Given the description of an element on the screen output the (x, y) to click on. 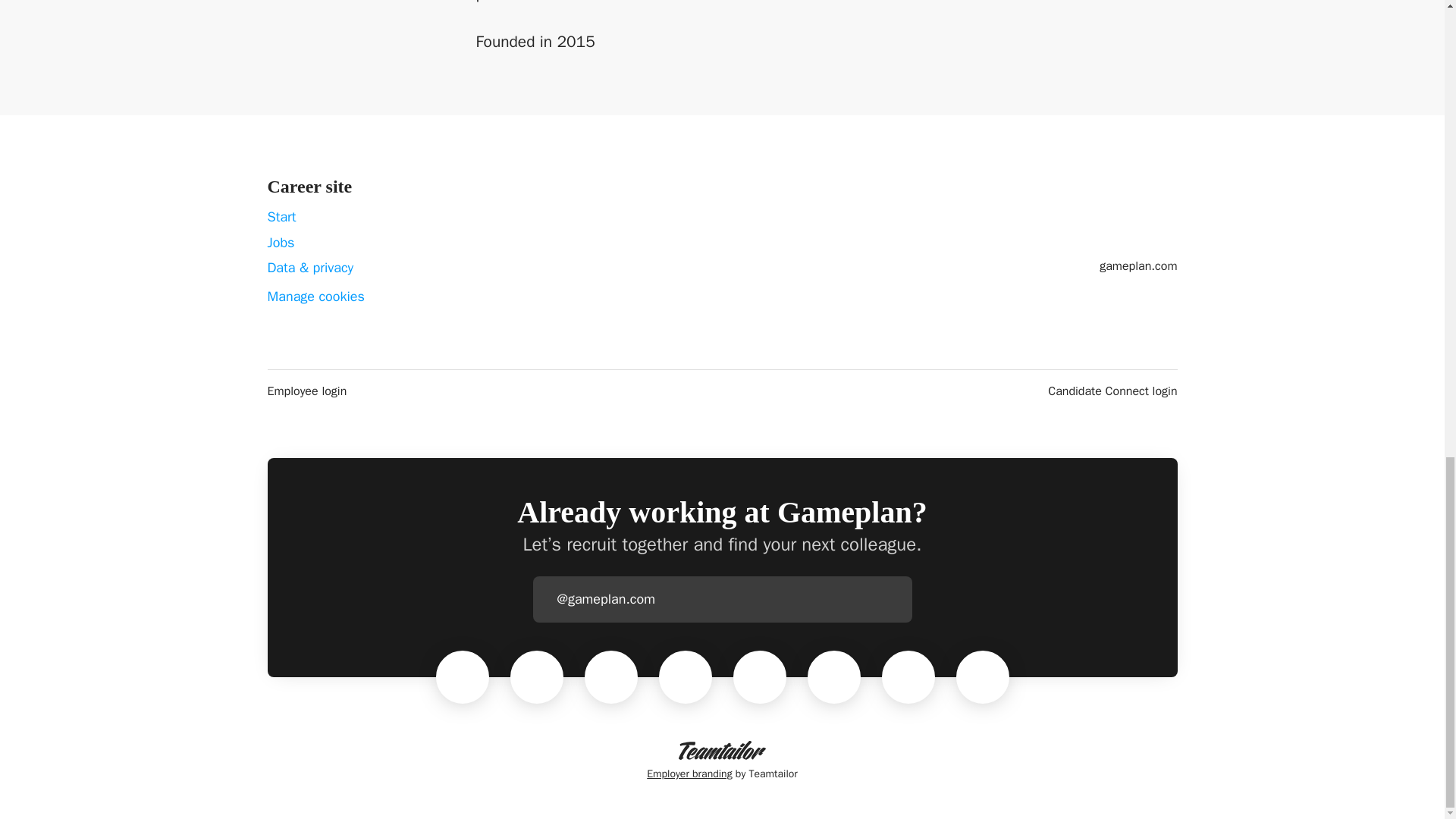
Hamid Abshari (759, 676)
Candidate Connect login (1112, 391)
Employee login (306, 391)
Log in (899, 598)
Employer branding by Teamtailor (721, 760)
Manage cookies (315, 296)
Start (280, 216)
Laurynas Brovka (462, 676)
Dan Andreasson (908, 676)
Alyson Vengoechea (536, 676)
Jobs (280, 241)
William Krishock (685, 676)
gameplan.com (1137, 265)
